Given the description of an element on the screen output the (x, y) to click on. 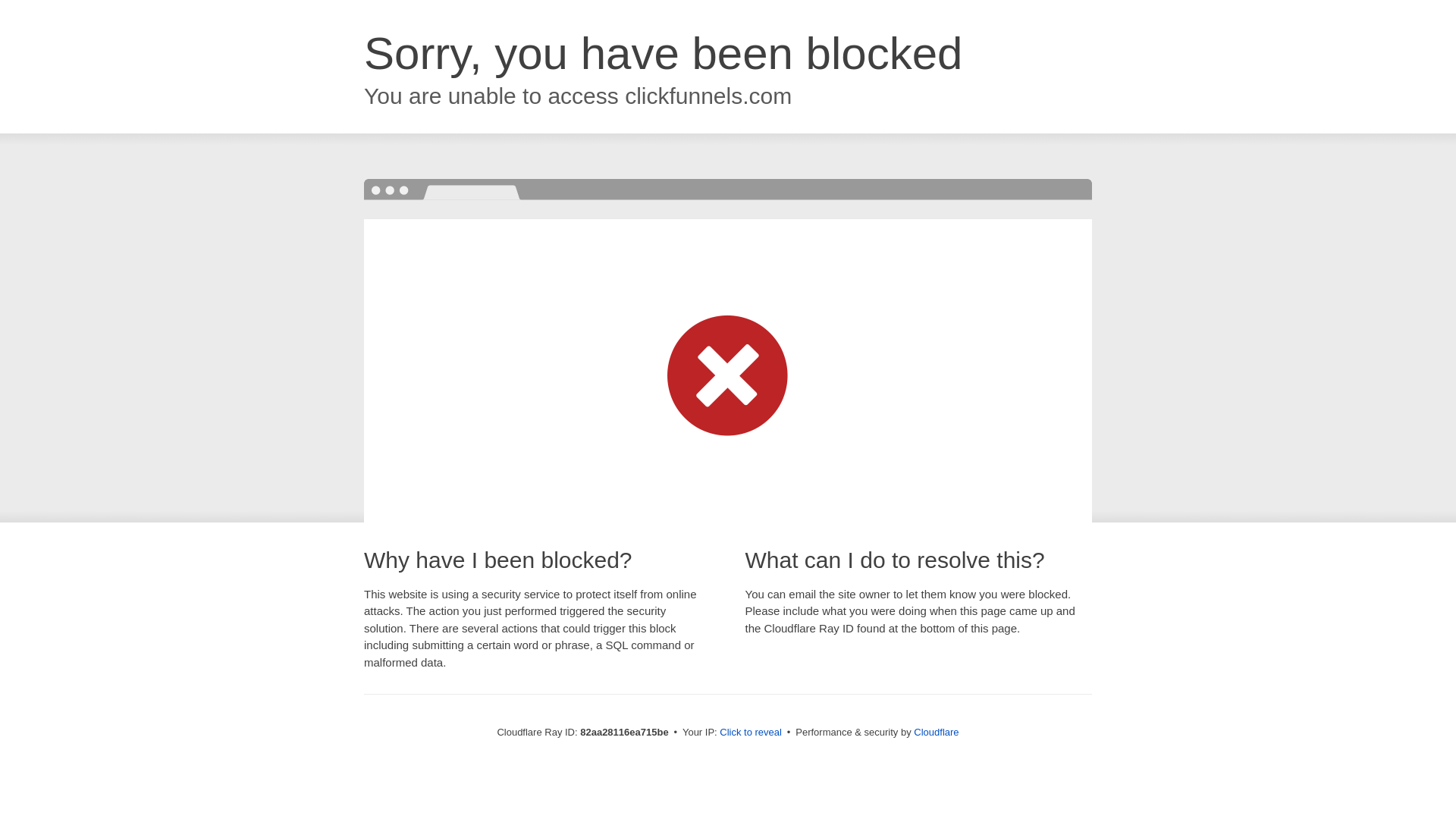
Click to reveal Element type: text (750, 732)
Cloudflare Element type: text (935, 731)
